Given the description of an element on the screen output the (x, y) to click on. 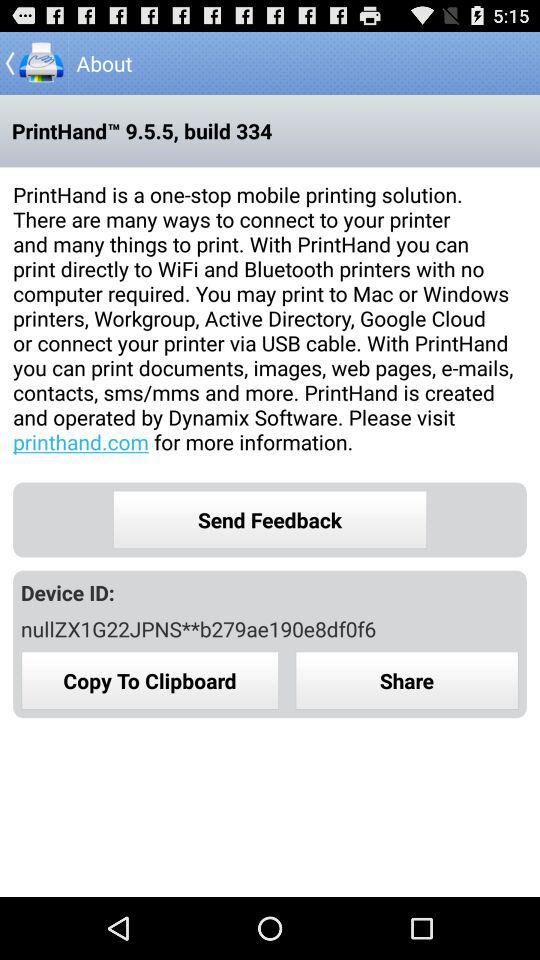
turn on the app above device id: item (269, 519)
